Given the description of an element on the screen output the (x, y) to click on. 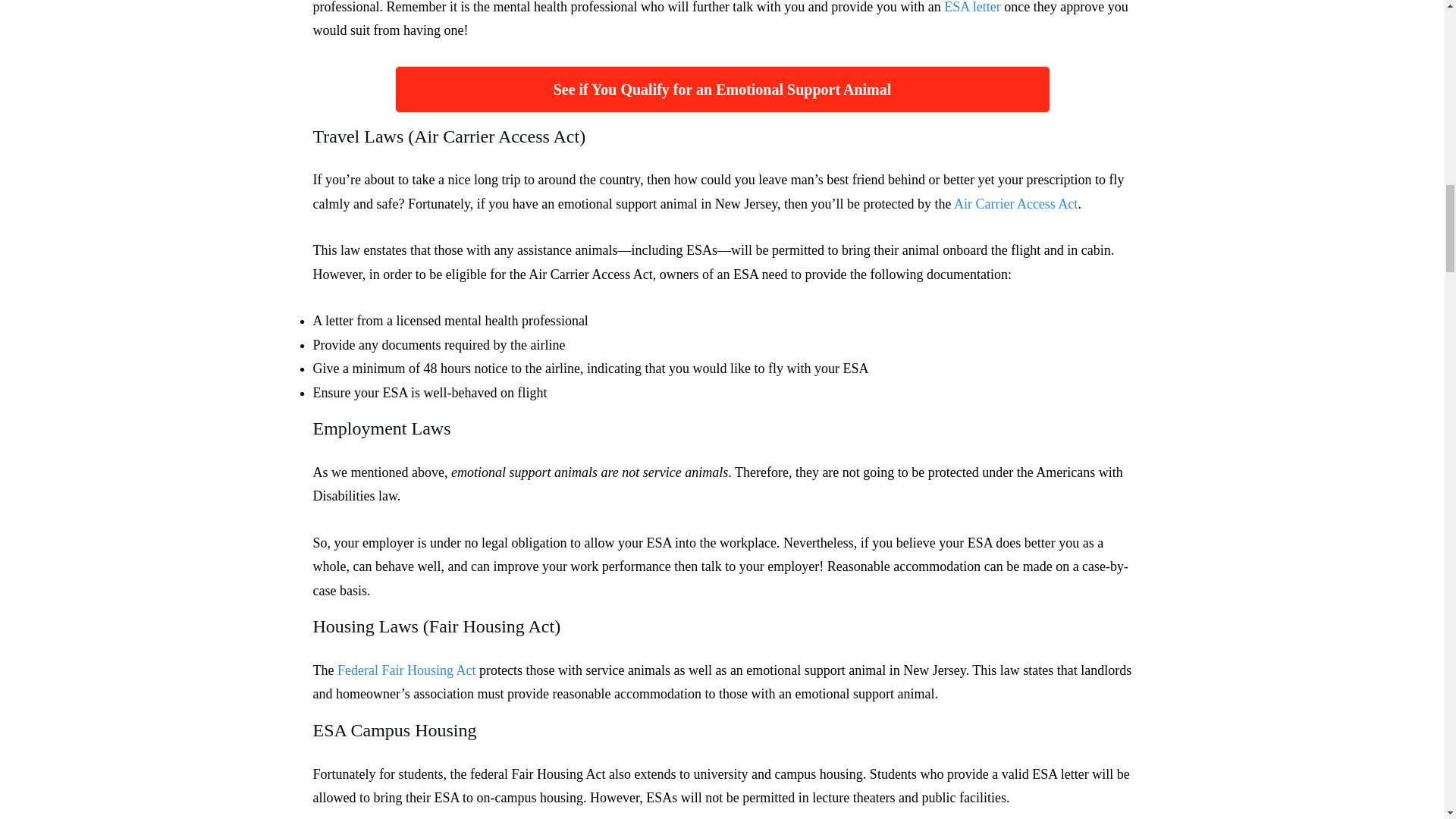
ESA letter (972, 7)
Air Carrier Access Act (1015, 203)
See if You Qualify for an Emotional Support Animal (721, 89)
Federal Fair Housing Act (406, 670)
See if You Qualify for an Emotional Support Animal (721, 89)
ESA letter (972, 7)
